Given the description of an element on the screen output the (x, y) to click on. 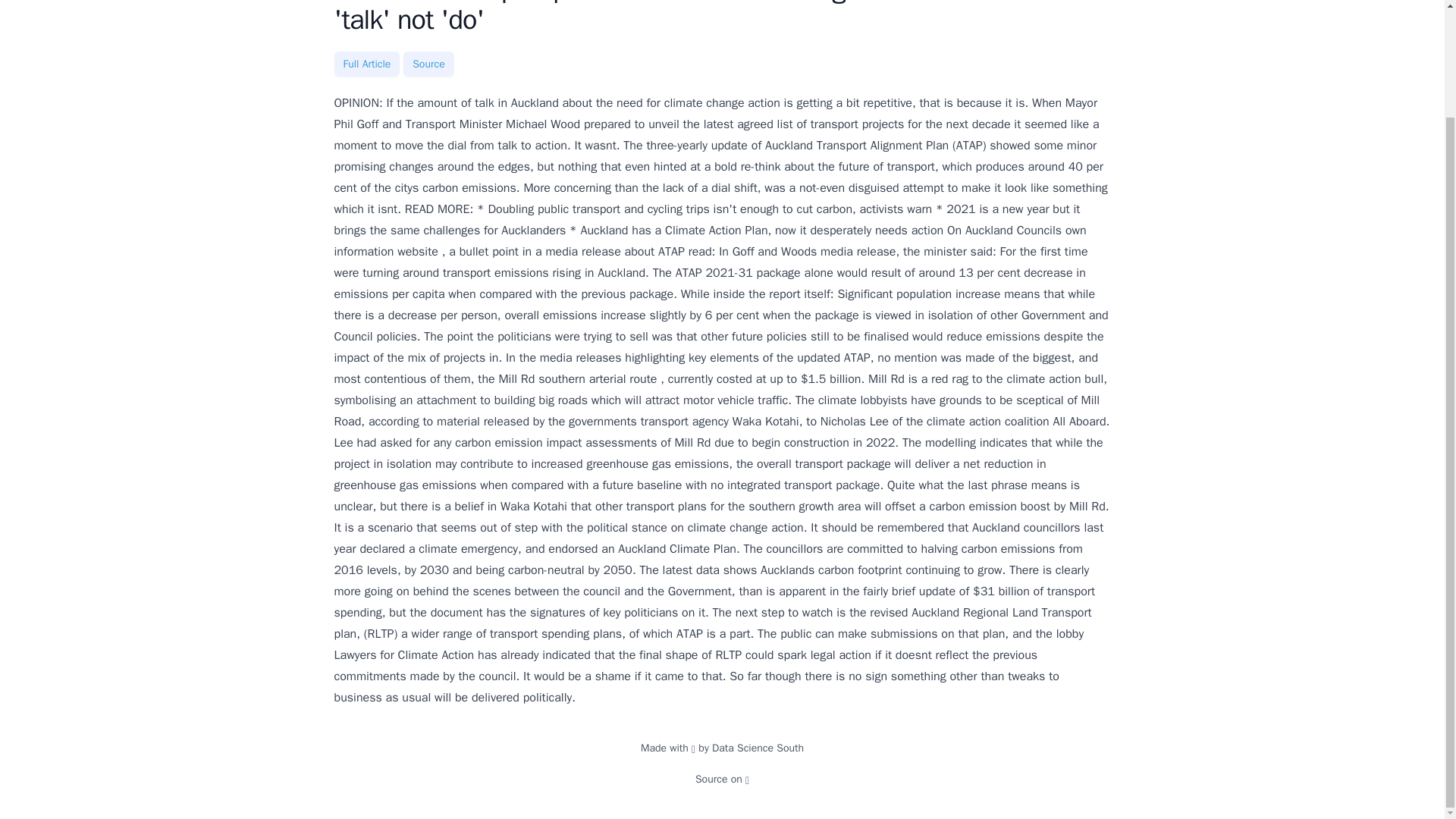
Full Article (365, 63)
Source (428, 63)
Made with by Data Science South (721, 748)
Source on (722, 779)
